Given the description of an element on the screen output the (x, y) to click on. 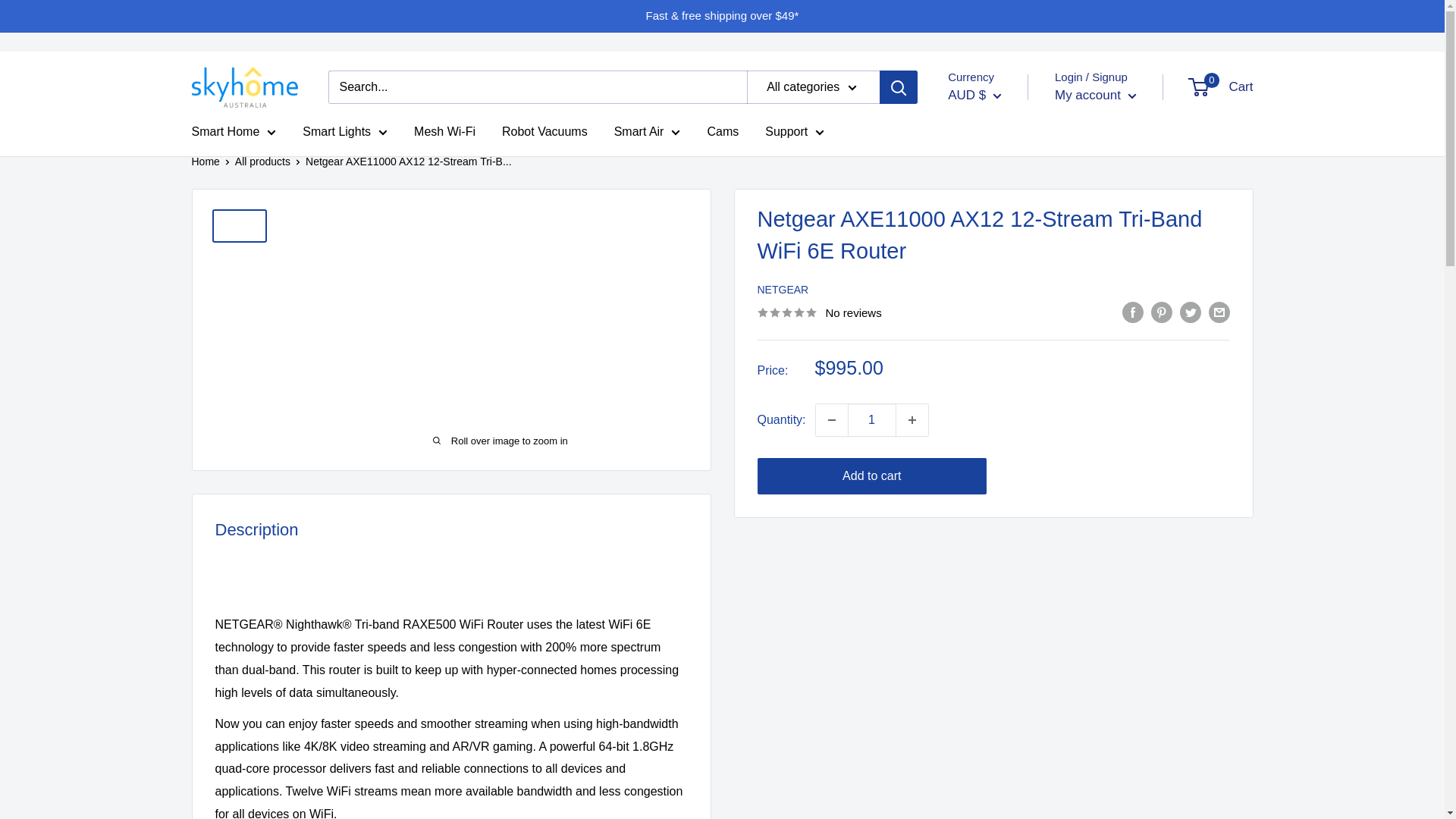
1 (871, 419)
Increase quantity by 1 (912, 419)
Decrease quantity by 1 (831, 419)
